Given the description of an element on the screen output the (x, y) to click on. 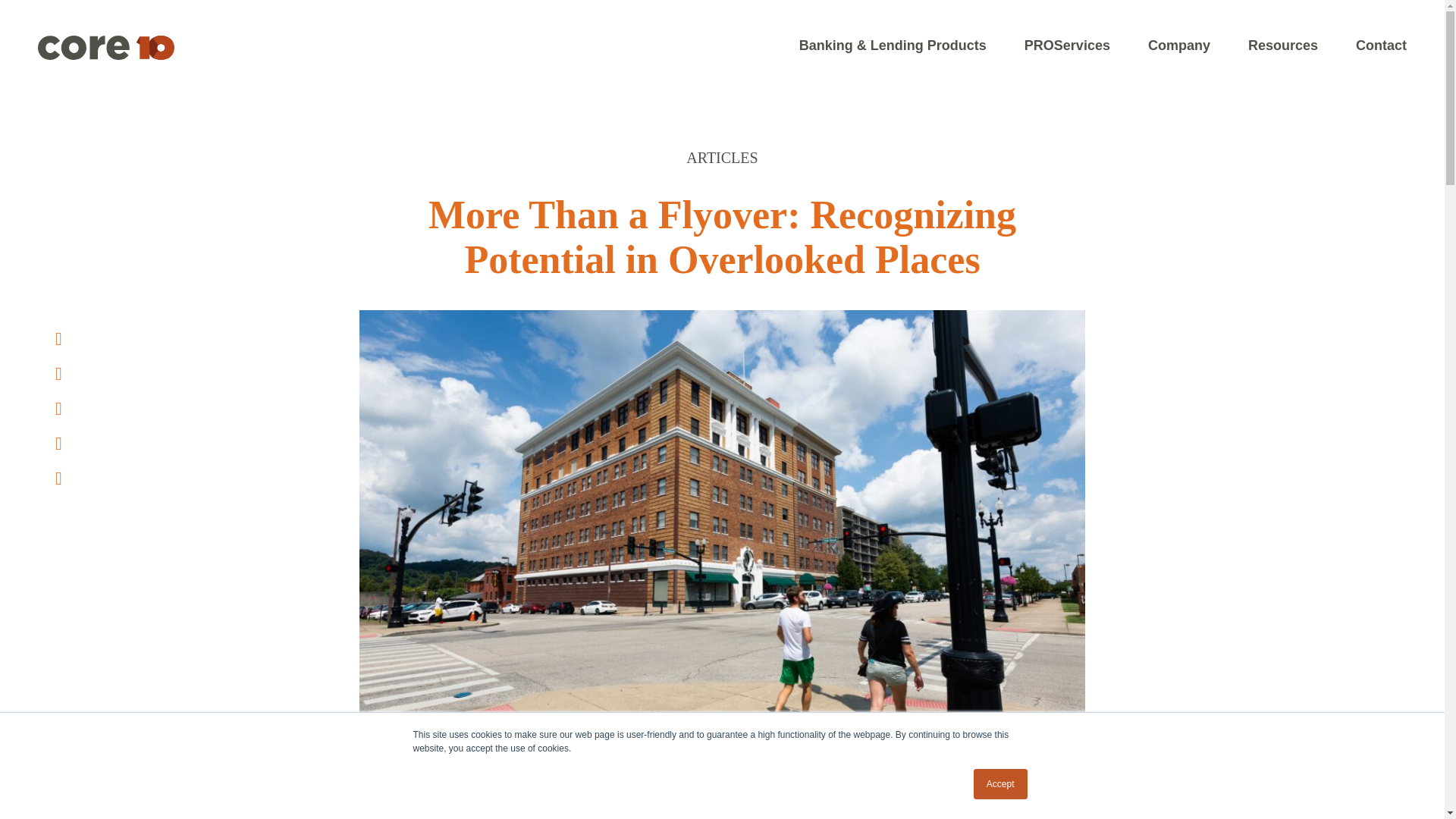
ARTICLES (721, 157)
Company (1178, 44)
Share via Email (58, 478)
Resources (1282, 44)
Contact (1380, 44)
PROServices (1067, 44)
Accept (1000, 784)
Share on Linkedin (58, 443)
Share on Facebook (58, 373)
Share on Twitter (58, 338)
